Given the description of an element on the screen output the (x, y) to click on. 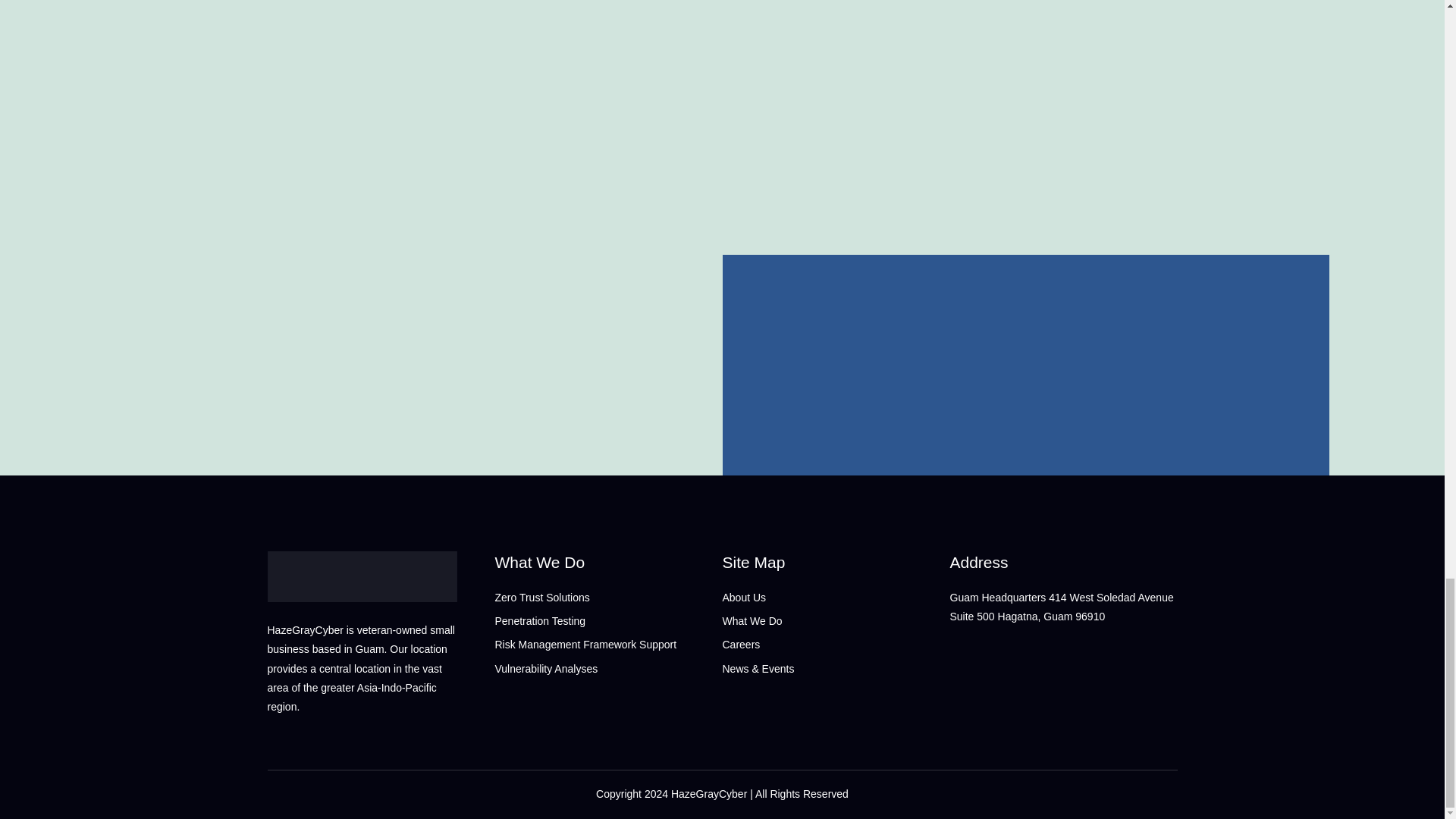
What We Do (835, 620)
Penetration Testing (608, 620)
About Us (835, 597)
Zero Trust Solutions (608, 597)
What We Do (608, 562)
Vulnerability Analyses (608, 669)
Address (1062, 562)
Risk Management Framework Support (608, 644)
